Given the description of an element on the screen output the (x, y) to click on. 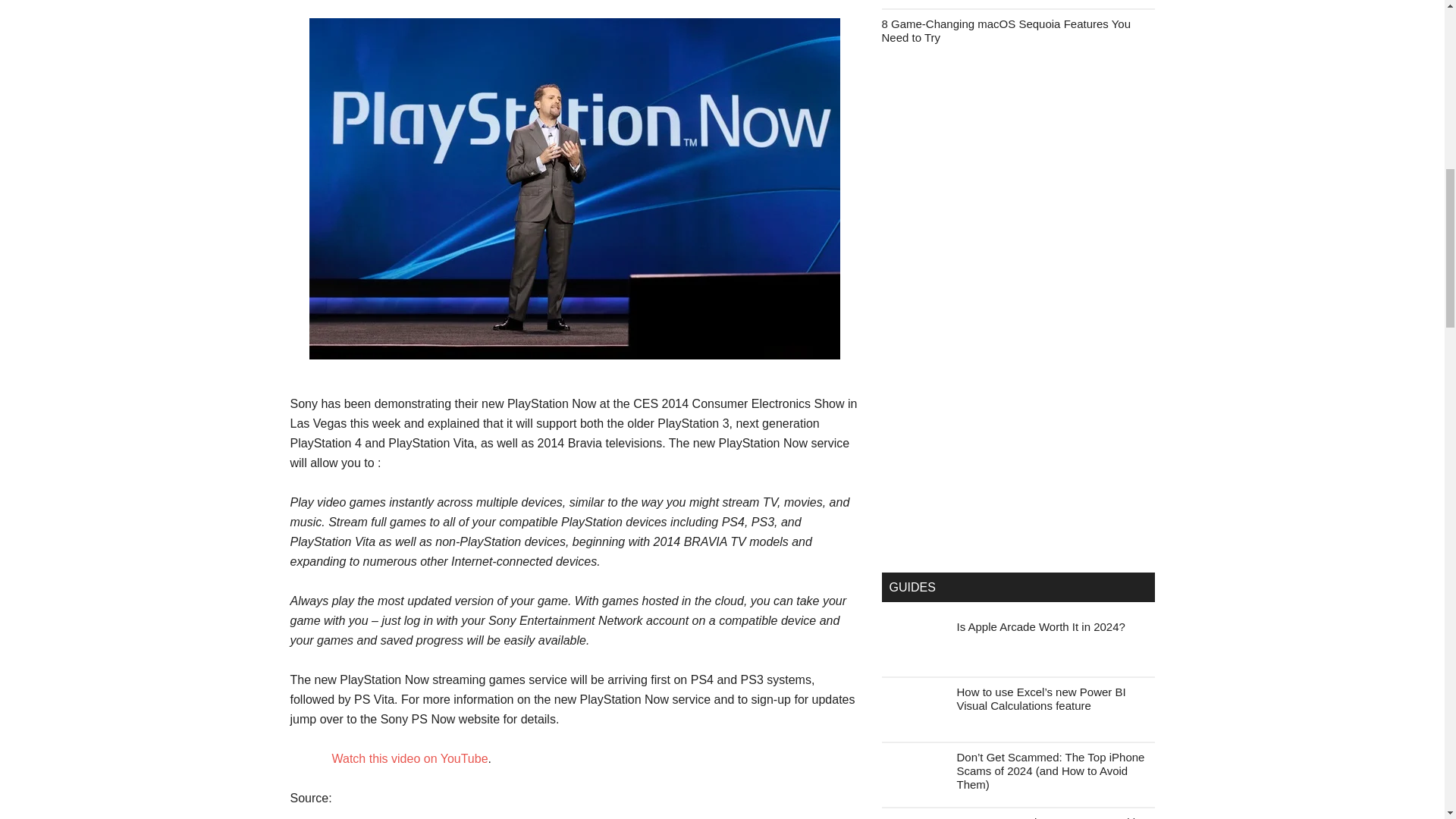
Watch this video on YouTube (409, 758)
